Given the description of an element on the screen output the (x, y) to click on. 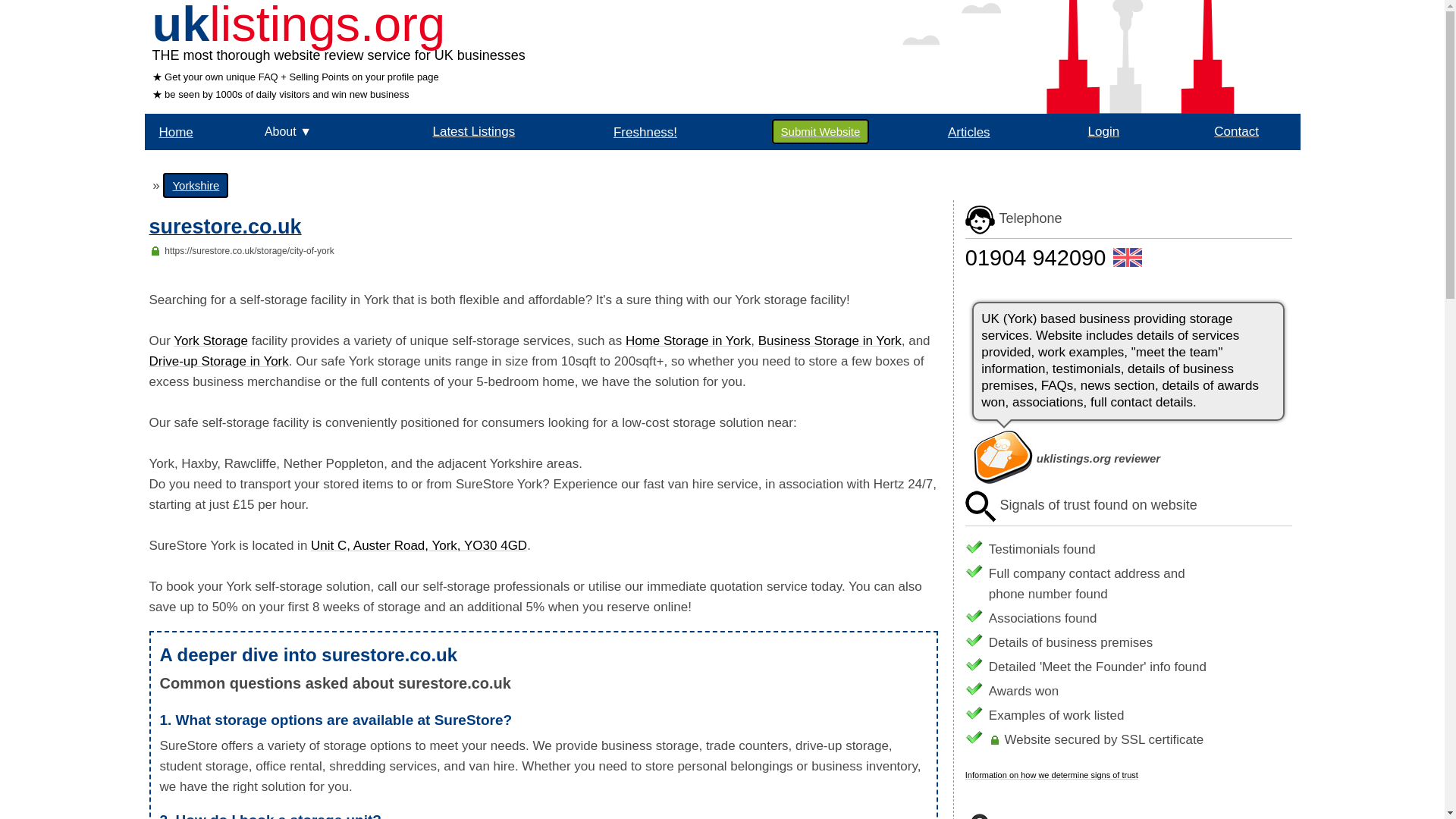
Home (175, 131)
Latest Listings (473, 131)
York Storage (210, 340)
Articles (968, 131)
Login (1103, 131)
01904 942090 (1035, 257)
Yorkshire (195, 185)
Business Storage in York (829, 340)
Unit C, Auster Road, York, YO30 4GD (419, 545)
Freshness! (644, 131)
Information on how we determine signs of trust (1051, 774)
surestore.co.uk (224, 228)
Submit Website (820, 131)
Home Storage in York (688, 340)
Drive-up Storage in York (218, 360)
